Given the description of an element on the screen output the (x, y) to click on. 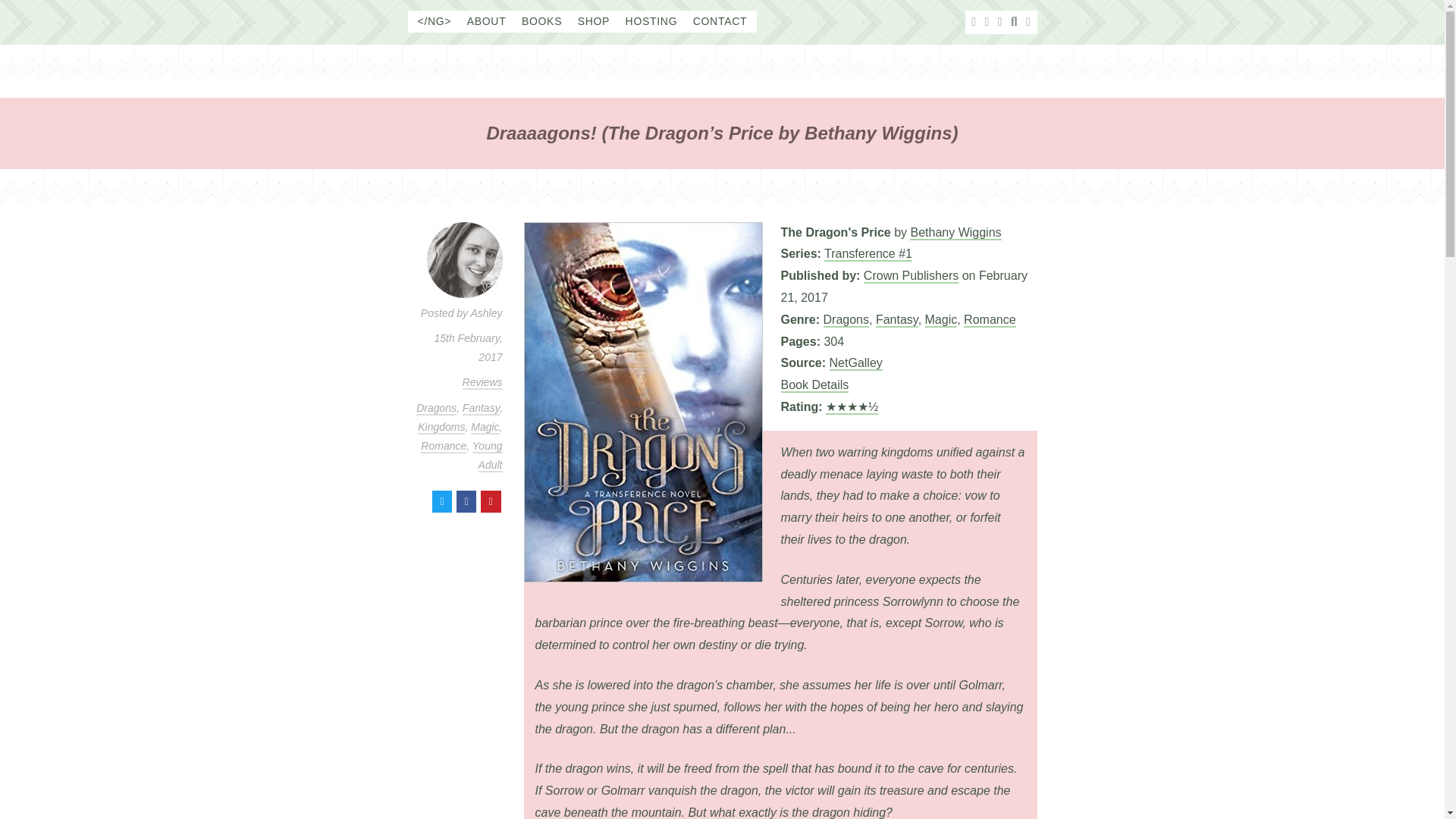
Crown Publishers (910, 276)
Dragons (436, 408)
Fantasy (481, 408)
Book Details (814, 385)
HOSTING (652, 21)
CONTACT (720, 21)
Romance (988, 319)
Young Adult (486, 455)
Kingdoms (440, 427)
Bethany Wiggins (955, 233)
Magic (941, 319)
Fantasy (897, 319)
SHOP (594, 21)
Dragons (846, 319)
Reviews (482, 382)
